Given the description of an element on the screen output the (x, y) to click on. 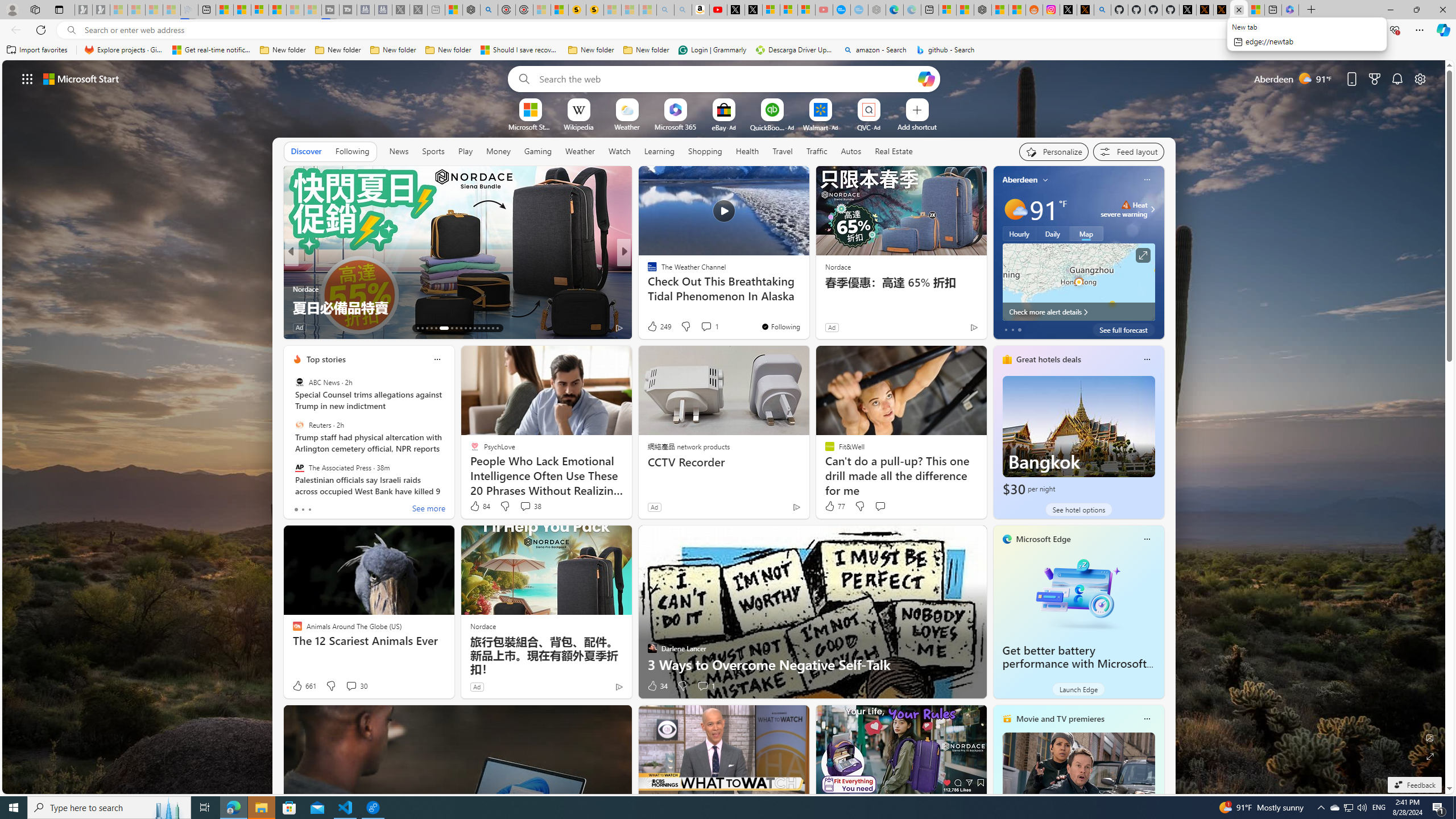
Import favorites (36, 49)
The Verge (647, 288)
help.x.com | 524: A timeout occurred (1085, 9)
Feed settings (1128, 151)
AutomationID: tab-20 (456, 328)
Gaming (537, 151)
Minimize (1390, 9)
Following (352, 151)
Check more alert details (1077, 311)
Expand background (1430, 756)
AutomationID: tab-22 (465, 328)
You're following The Weather Channel (780, 326)
